Given the description of an element on the screen output the (x, y) to click on. 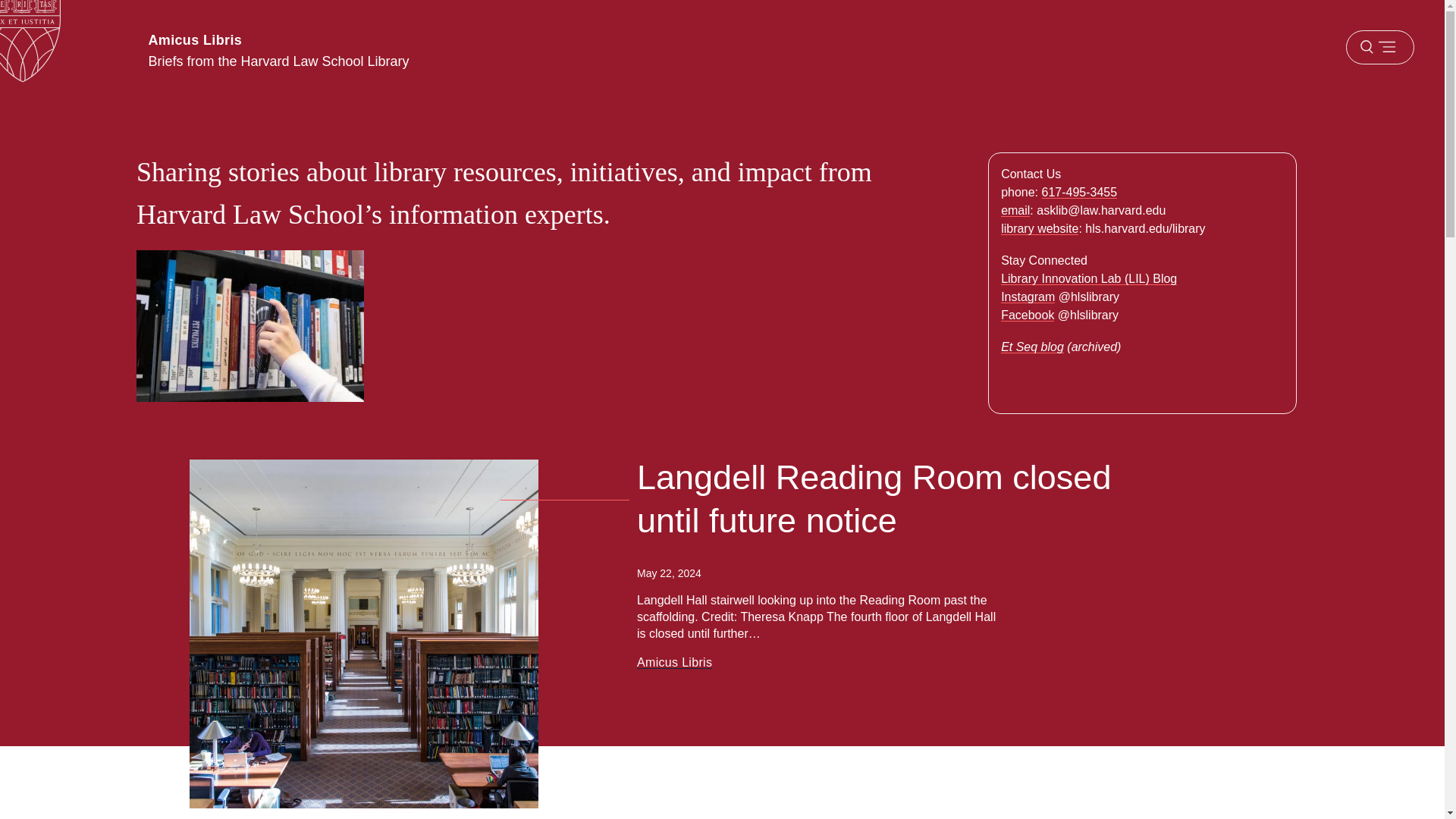
Open menu (1379, 47)
